Given the description of an element on the screen output the (x, y) to click on. 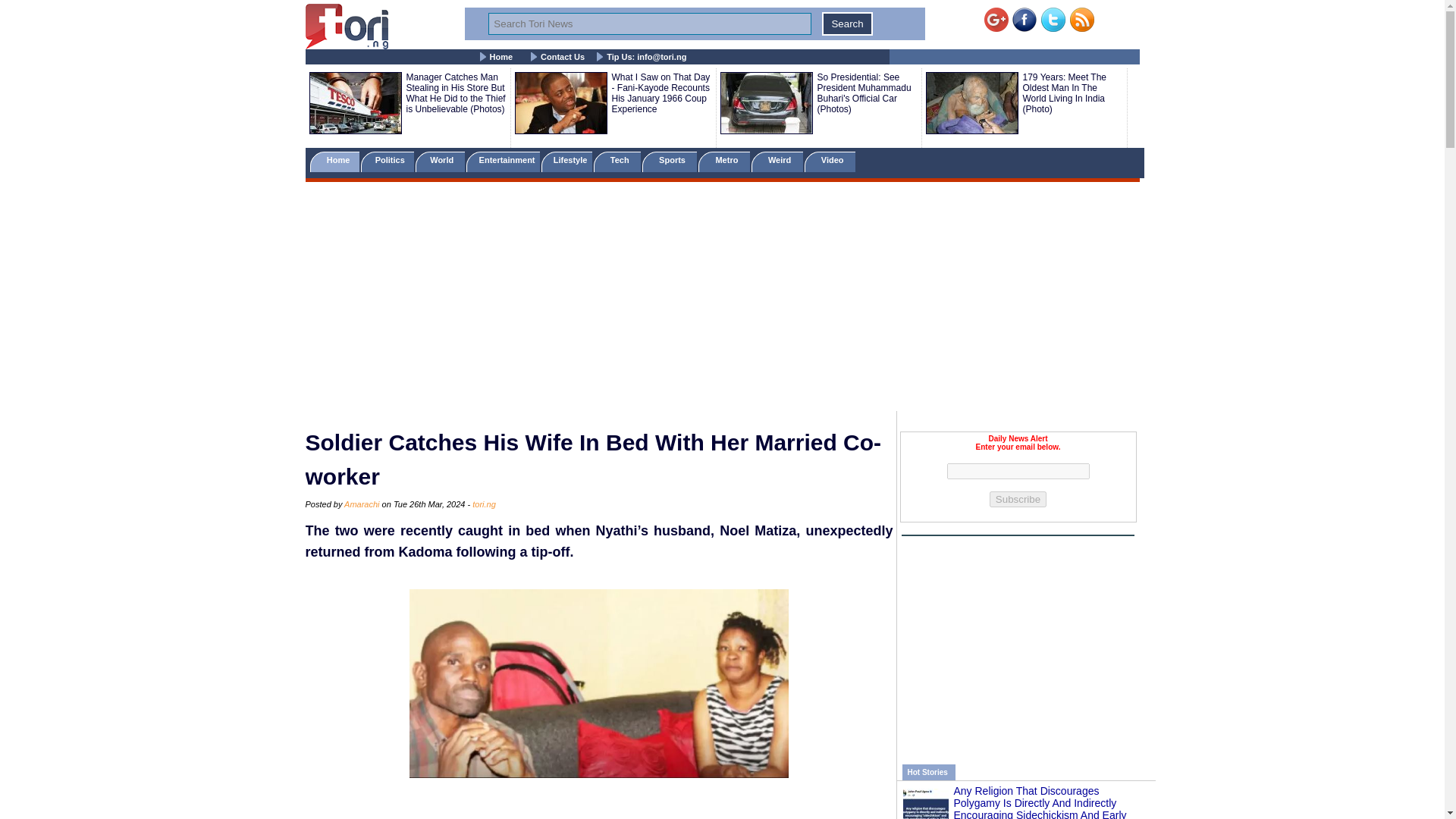
Home (501, 56)
  Lifestyle   (566, 161)
Search (847, 24)
   Politics     (387, 161)
Advertisement (1017, 642)
Click To Search (847, 24)
    Video      (830, 161)
Search (847, 24)
  Entertainment   (501, 161)
Subscribe (1018, 498)
Search Tori News (648, 24)
   World      (439, 161)
